Given the description of an element on the screen output the (x, y) to click on. 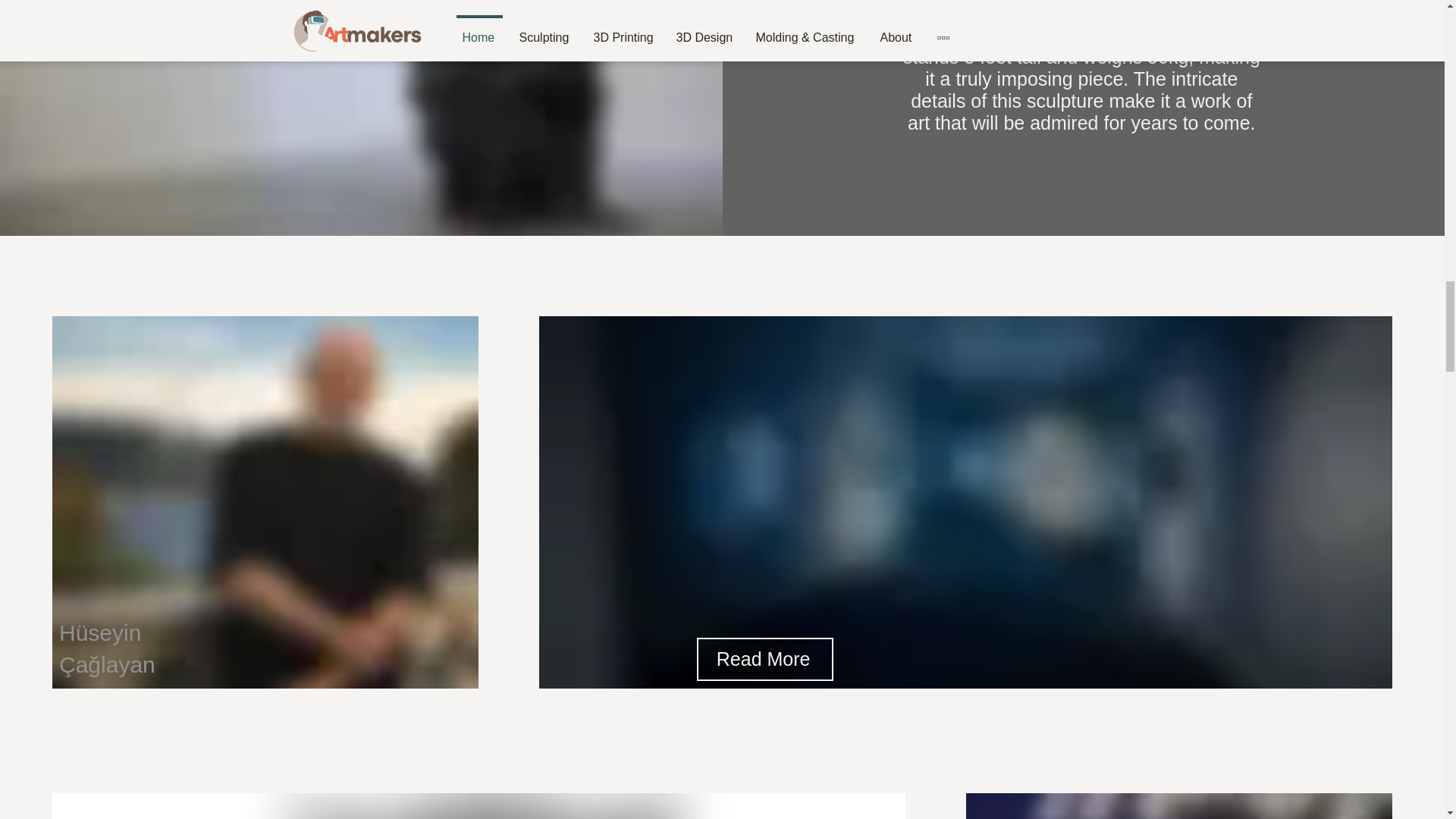
Read More (764, 659)
